Given the description of an element on the screen output the (x, y) to click on. 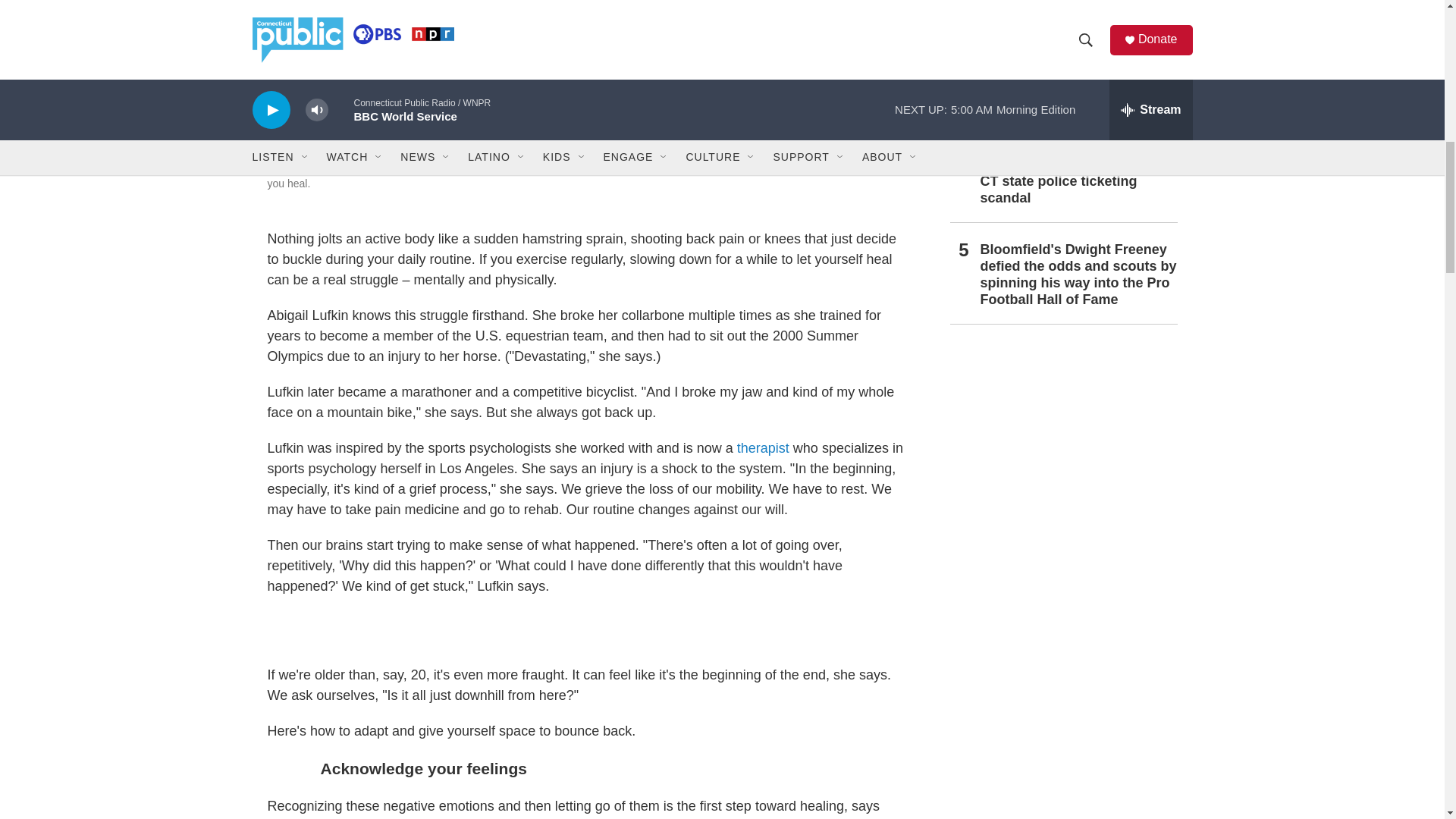
3rd party ad content (1062, 669)
3rd party ad content (1062, 449)
3rd party ad content (585, 630)
3rd party ad content (1062, 806)
